Given the description of an element on the screen output the (x, y) to click on. 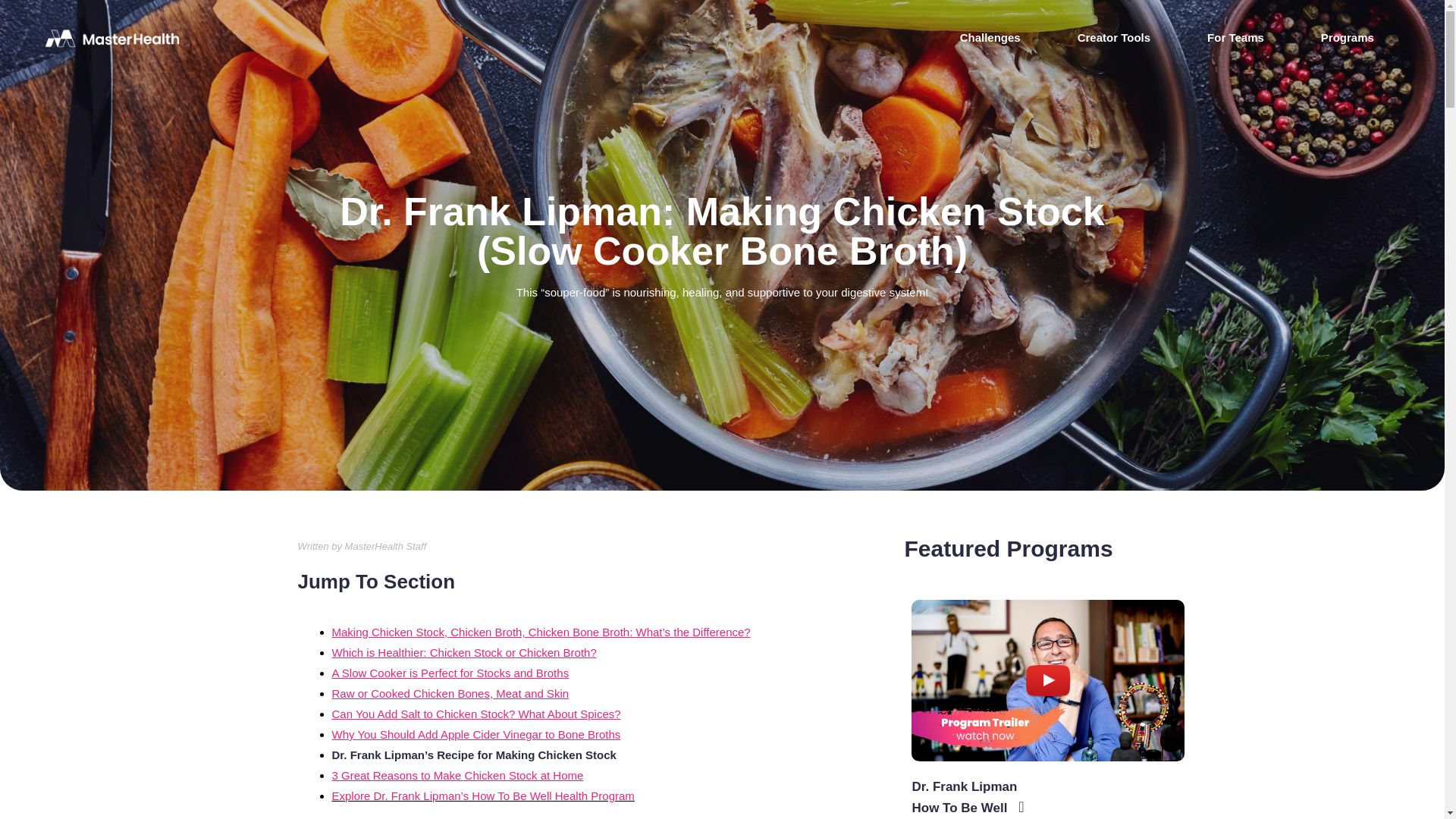
Creator Tools (1113, 38)
For Teams (1235, 38)
Programs (1347, 38)
Raw or Cooked Chicken Bones, Meat and Skin (450, 693)
Challenges (989, 38)
3 Great Reasons to Make Chicken Stock at Home (457, 775)
Which is Healthier: Chicken Stock or Chicken Broth? (463, 652)
Can You Add Salt to Chicken Stock? What About Spices? (476, 713)
Why You Should Add Apple Cider Vinegar to Bone Broths (476, 734)
A Slow Cooker is Perfect for Stocks and Broths (450, 672)
